Given the description of an element on the screen output the (x, y) to click on. 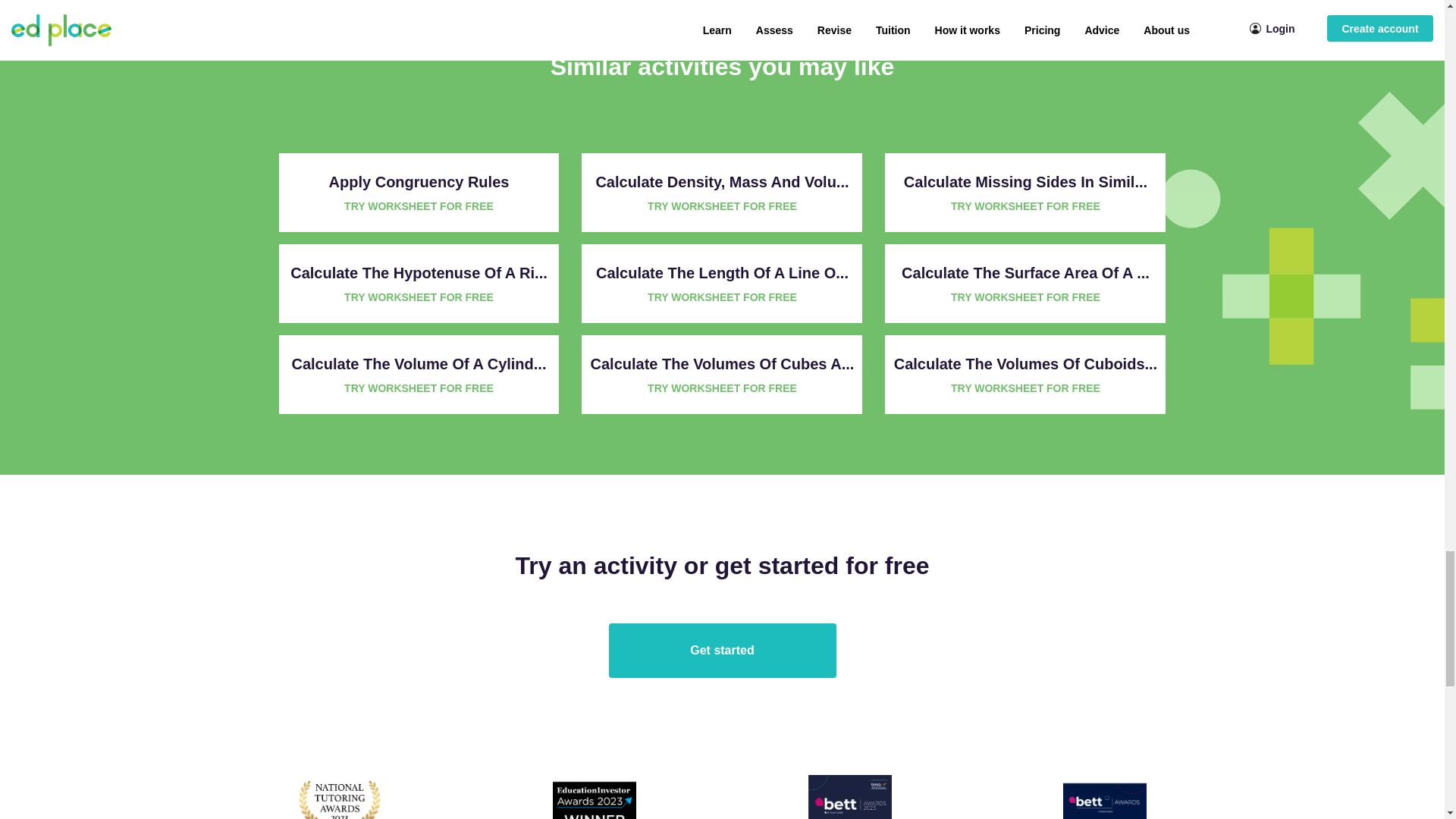
Get started (721, 650)
